Given the description of an element on the screen output the (x, y) to click on. 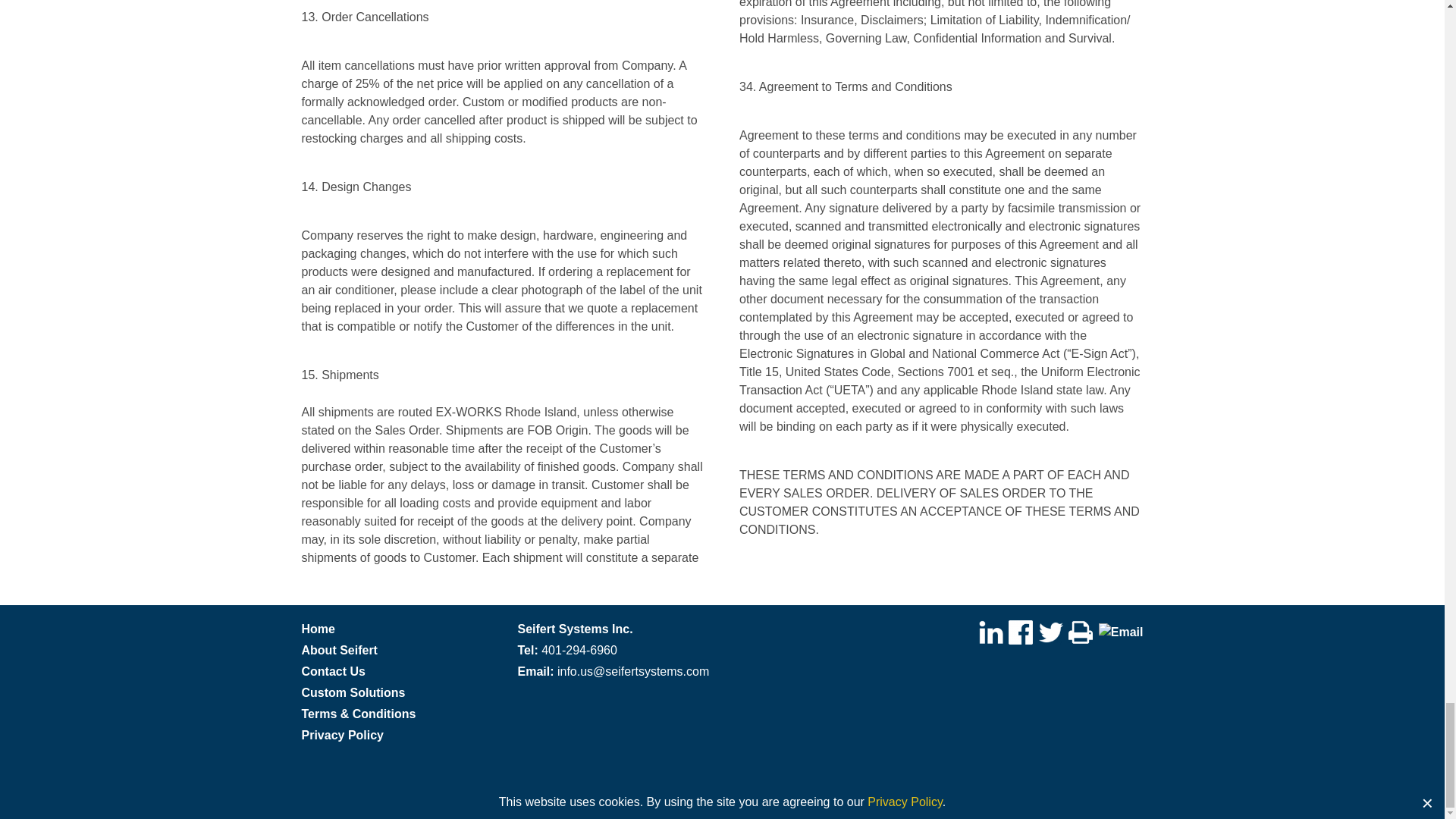
Facebook (1020, 631)
About Seifert (339, 649)
Twitter (1050, 631)
Twitter (1050, 631)
Email (1120, 632)
Custom Solutions (353, 691)
Email (1120, 631)
Facebook (1020, 631)
Contact Us (333, 670)
Print (1080, 631)
